Given the description of an element on the screen output the (x, y) to click on. 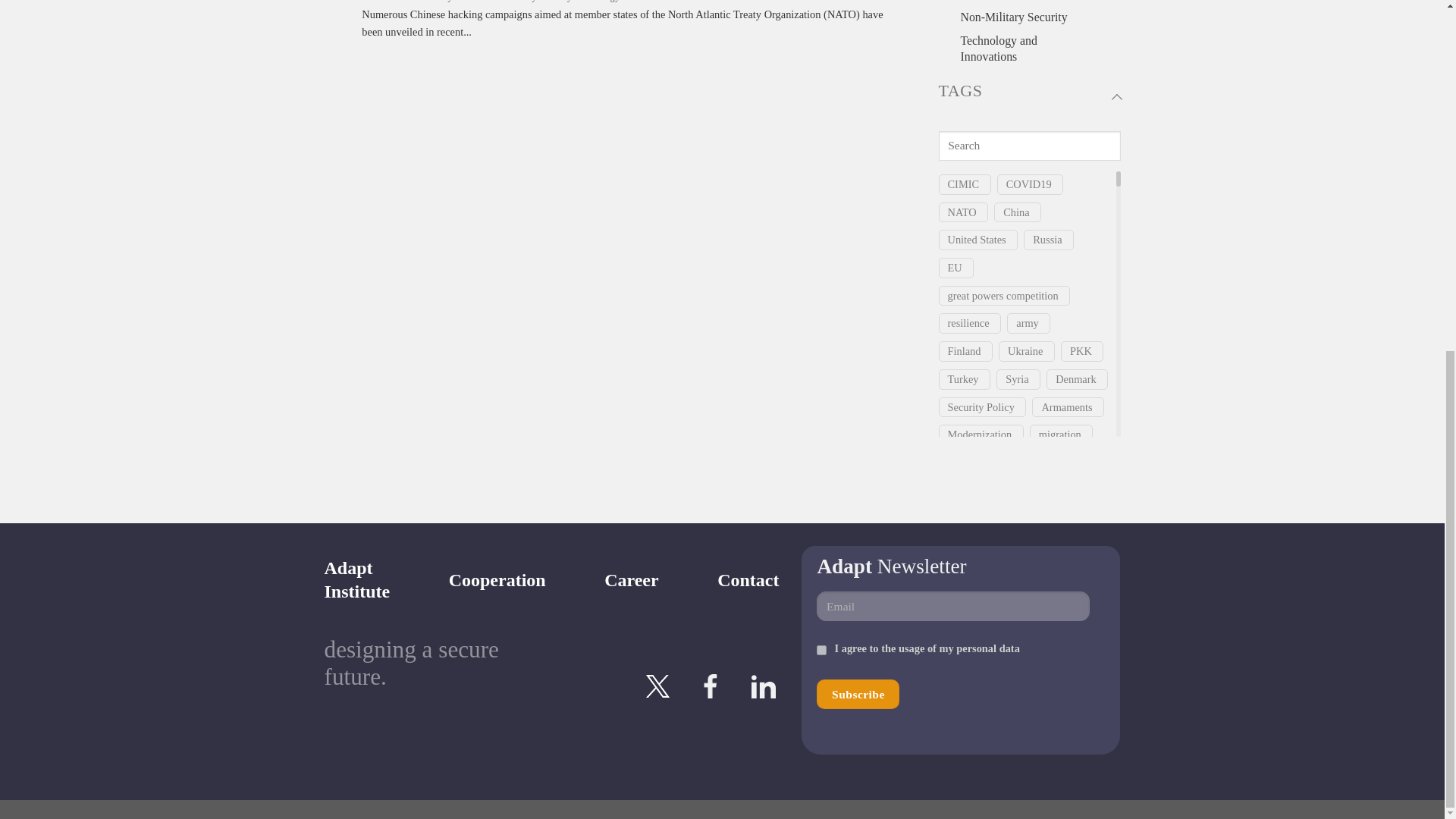
COVID19 (1028, 184)
EU (954, 268)
CIMIC (963, 184)
army (1027, 323)
Ukraine (1024, 350)
great powers competition (1002, 296)
Turkey (962, 379)
Subscribe (857, 694)
Technology and Innovations (1027, 48)
Russia (1046, 239)
China (1016, 212)
on (821, 650)
United States (976, 239)
NATO (961, 212)
Finland (964, 350)
